Given the description of an element on the screen output the (x, y) to click on. 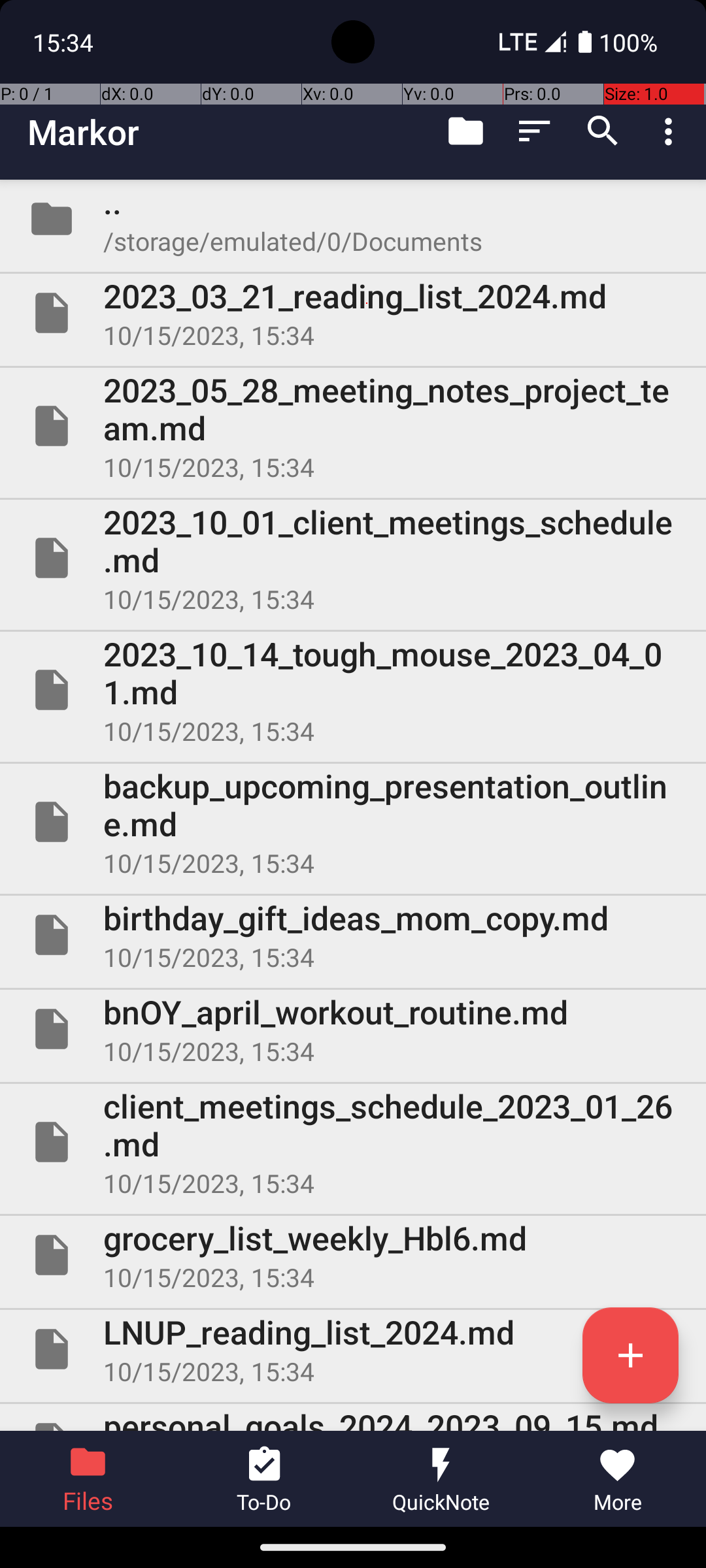
File 2023_03_21_reading_list_2024.md  Element type: android.widget.LinearLayout (353, 312)
File 2023_05_28_meeting_notes_project_team.md  Element type: android.widget.LinearLayout (353, 425)
File 2023_10_01_client_meetings_schedule.md  Element type: android.widget.LinearLayout (353, 557)
File 2023_10_14_tough_mouse_2023_04_01.md  Element type: android.widget.LinearLayout (353, 689)
File backup_upcoming_presentation_outline.md  Element type: android.widget.LinearLayout (353, 821)
File birthday_gift_ideas_mom_copy.md  Element type: android.widget.LinearLayout (353, 934)
File bnOY_april_workout_routine.md  Element type: android.widget.LinearLayout (353, 1028)
File client_meetings_schedule_2023_01_26.md  Element type: android.widget.LinearLayout (353, 1141)
File grocery_list_weekly_Hbl6.md  Element type: android.widget.LinearLayout (353, 1254)
File LNUP_reading_list_2024.md  Element type: android.widget.LinearLayout (353, 1348)
File personal_goals_2024_2023_09_15.md  Element type: android.widget.LinearLayout (353, 1417)
